Given the description of an element on the screen output the (x, y) to click on. 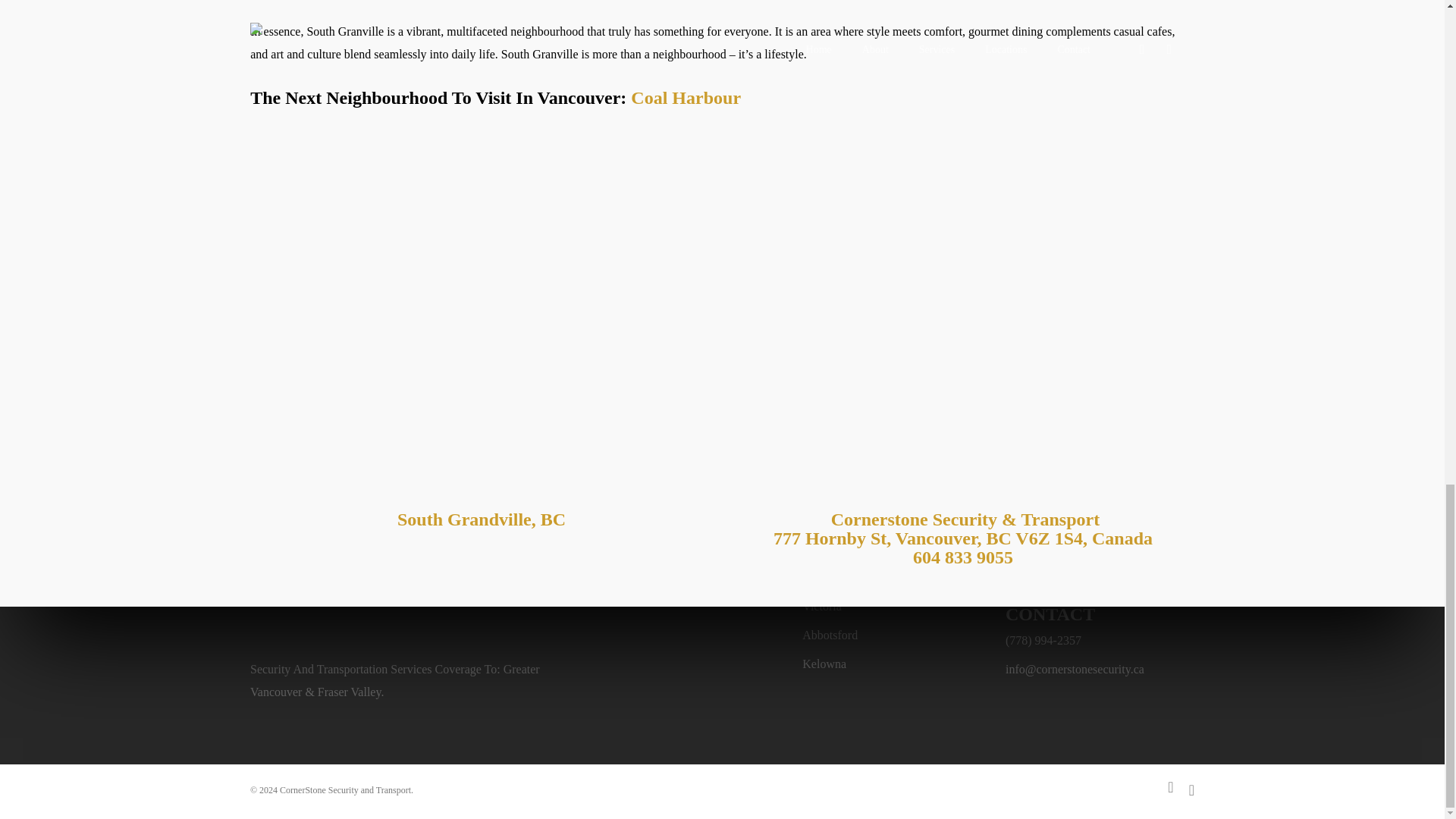
East Vancouver (481, 519)
